Given the description of an element on the screen output the (x, y) to click on. 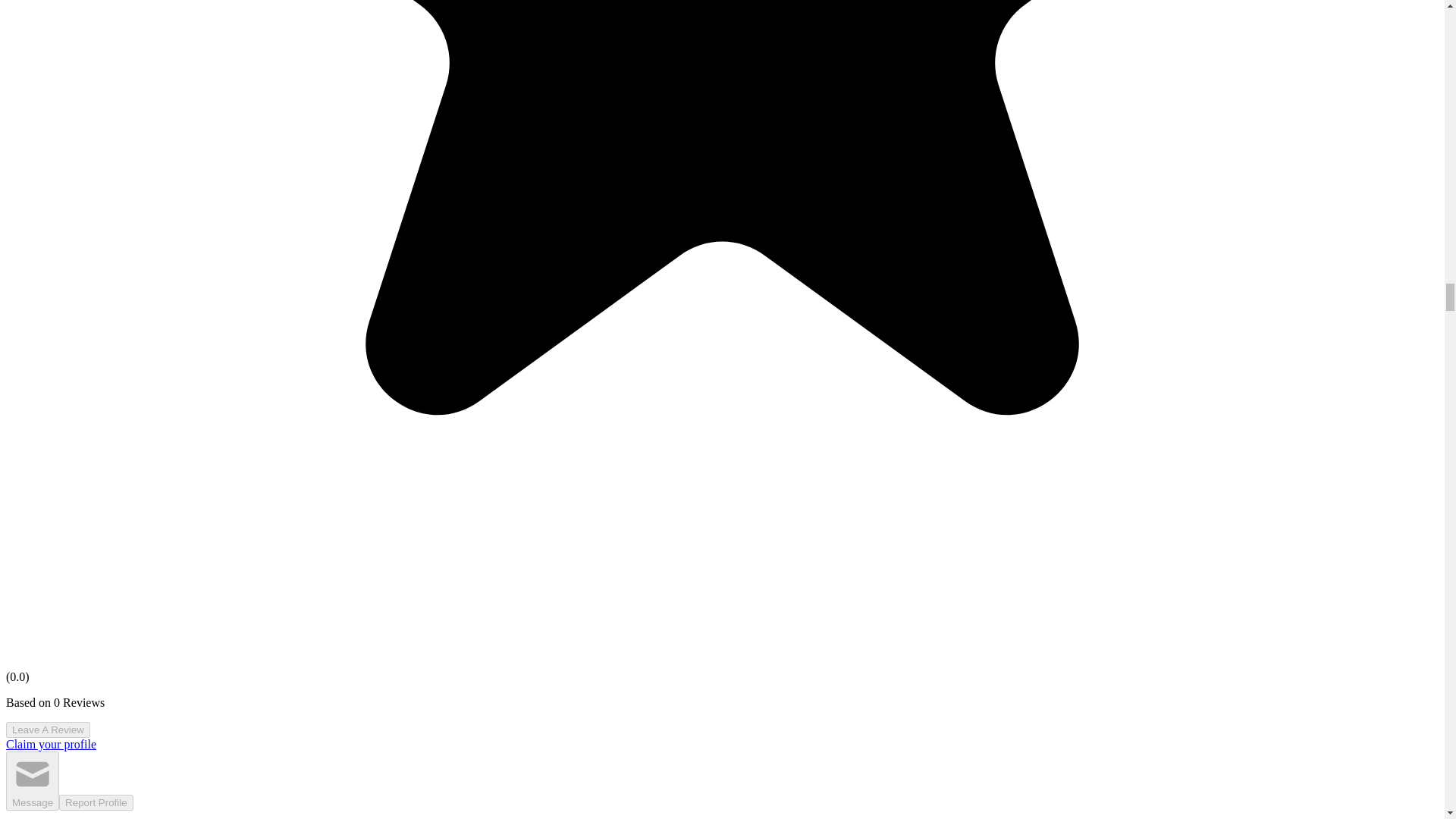
Report Profile (96, 802)
Claim your profile (50, 744)
Leave A Review (47, 729)
Message (32, 780)
